Given the description of an element on the screen output the (x, y) to click on. 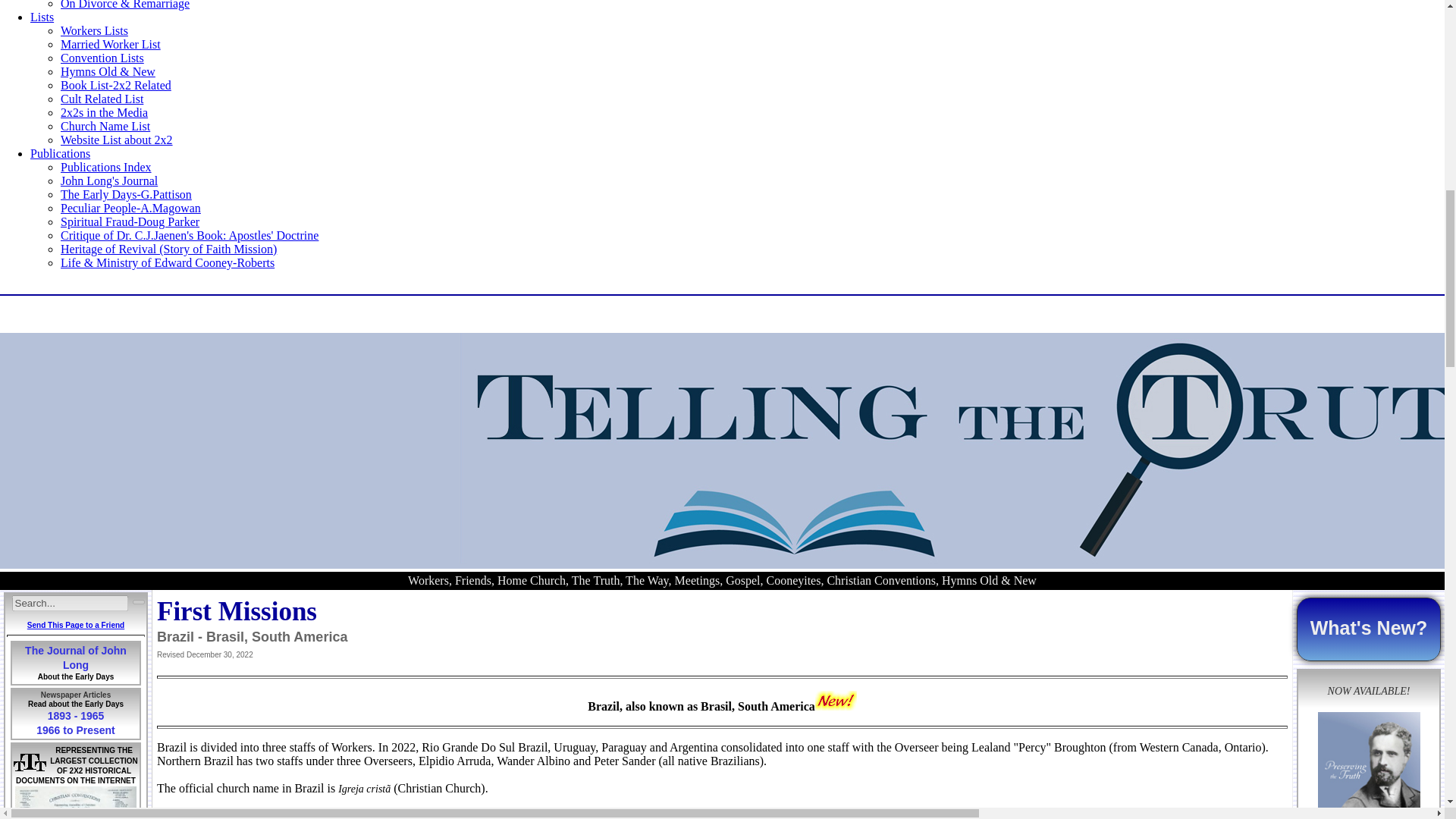
Letterhead used by workers (75, 802)
Search... (69, 602)
